Given the description of an element on the screen output the (x, y) to click on. 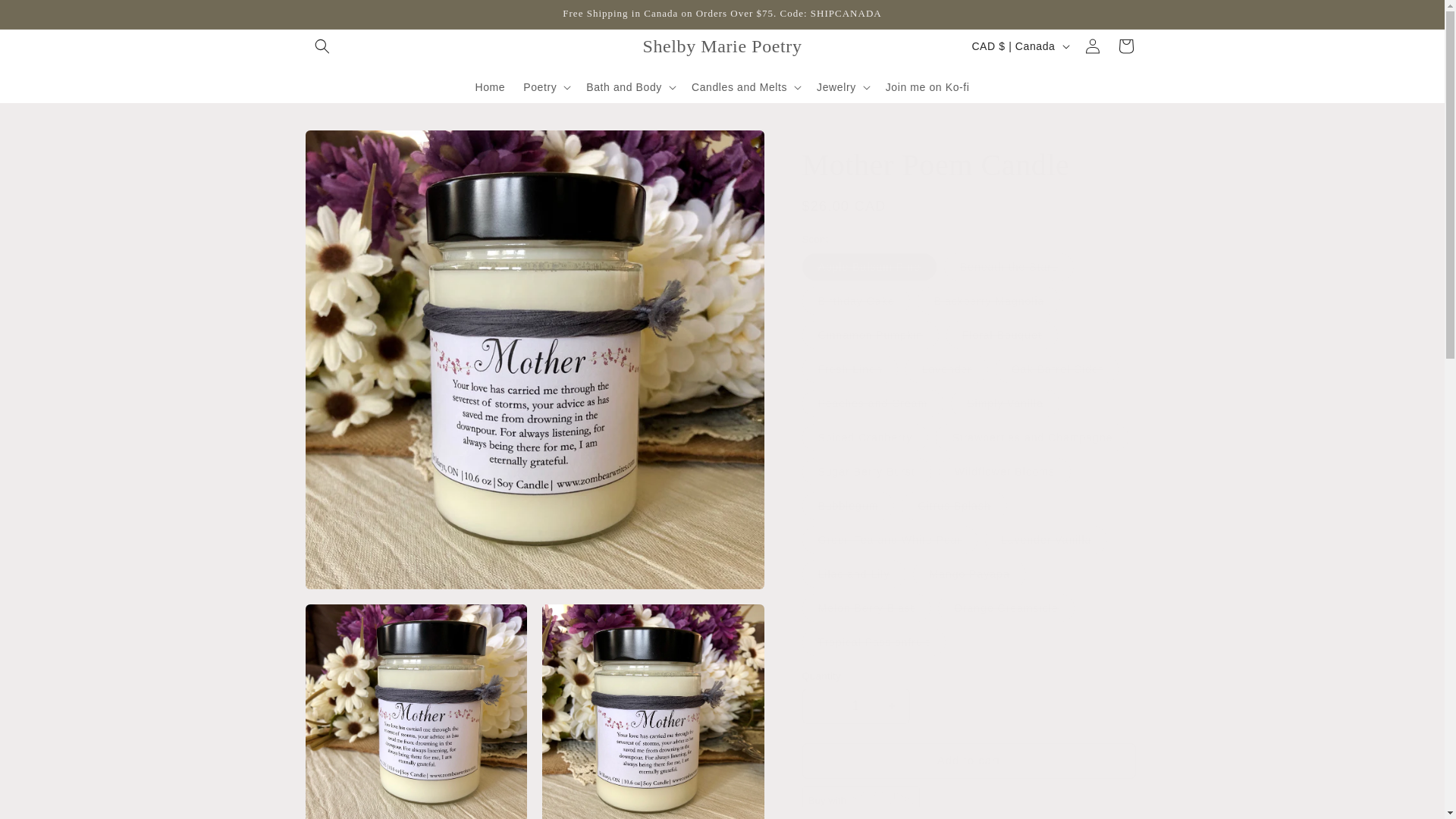
Skip to content (45, 17)
